Given the description of an element on the screen output the (x, y) to click on. 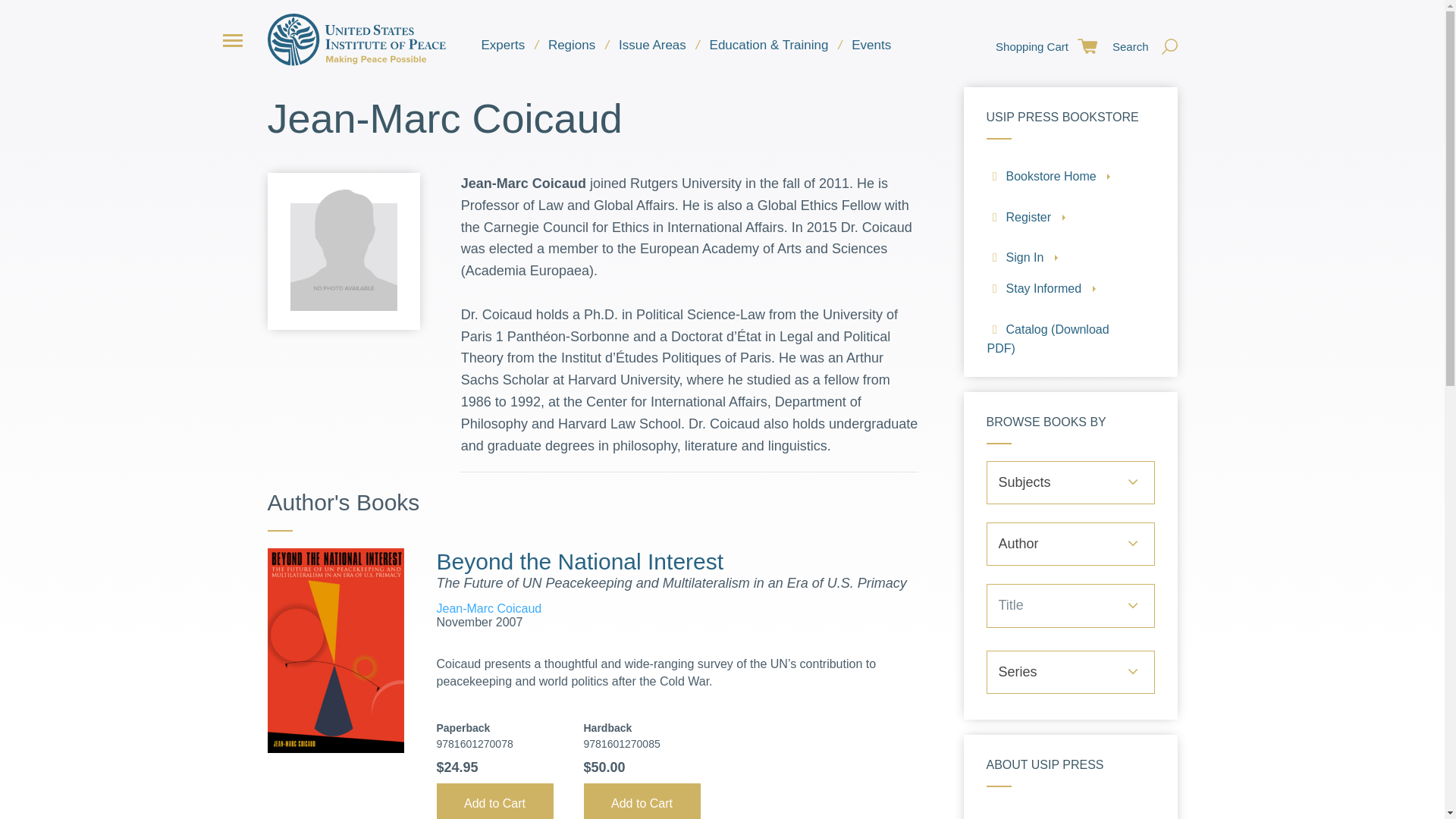
United States Institute of Peace (355, 39)
Issue Areas (652, 45)
Regions (571, 45)
Events (871, 45)
Experts (502, 45)
Shopping Cart (1042, 46)
Search (1141, 46)
